Given the description of an element on the screen output the (x, y) to click on. 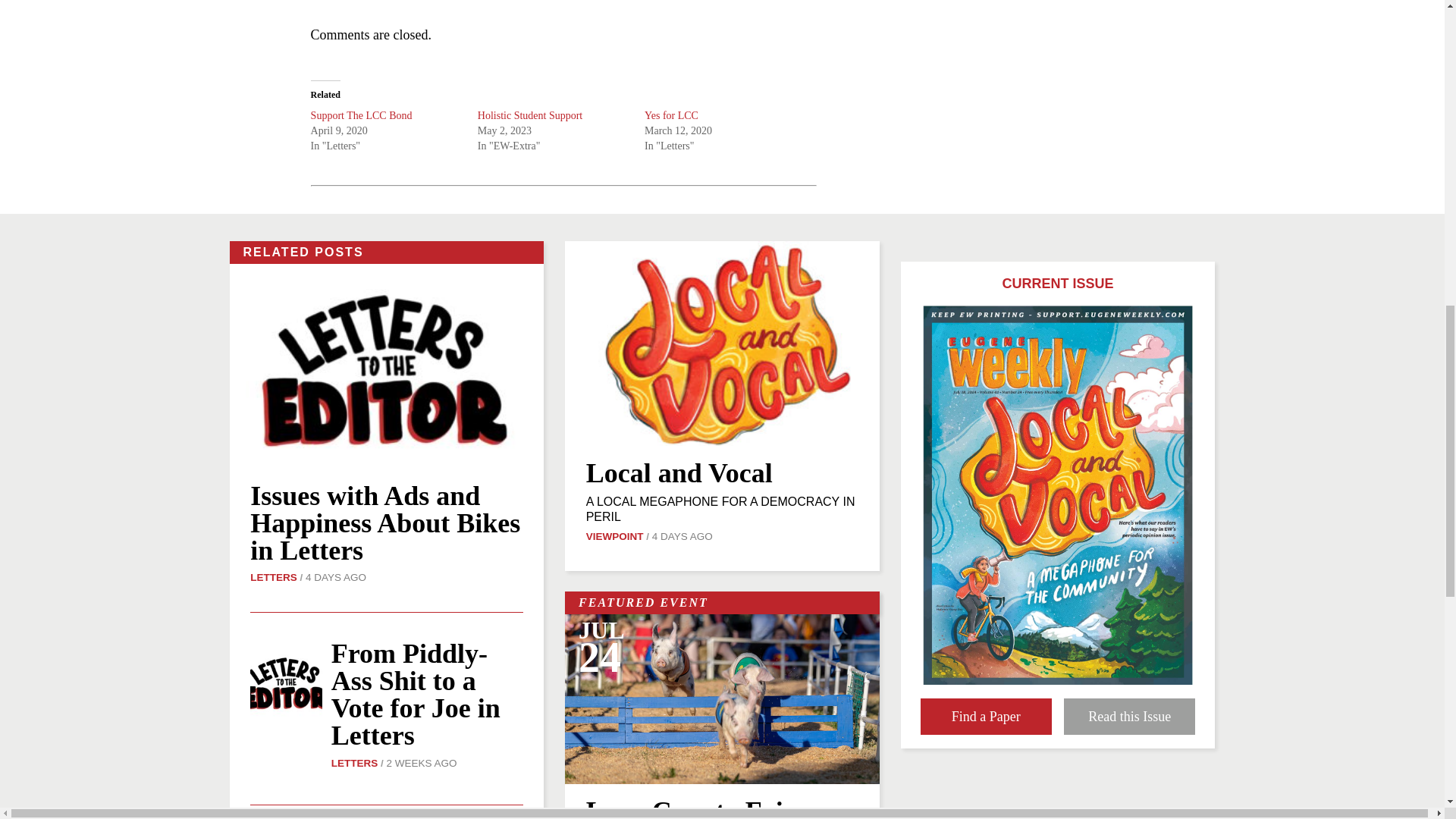
Holistic Student Support (529, 115)
Yes for LCC (671, 115)
Support The LCC Bond (361, 115)
